Given the description of an element on the screen output the (x, y) to click on. 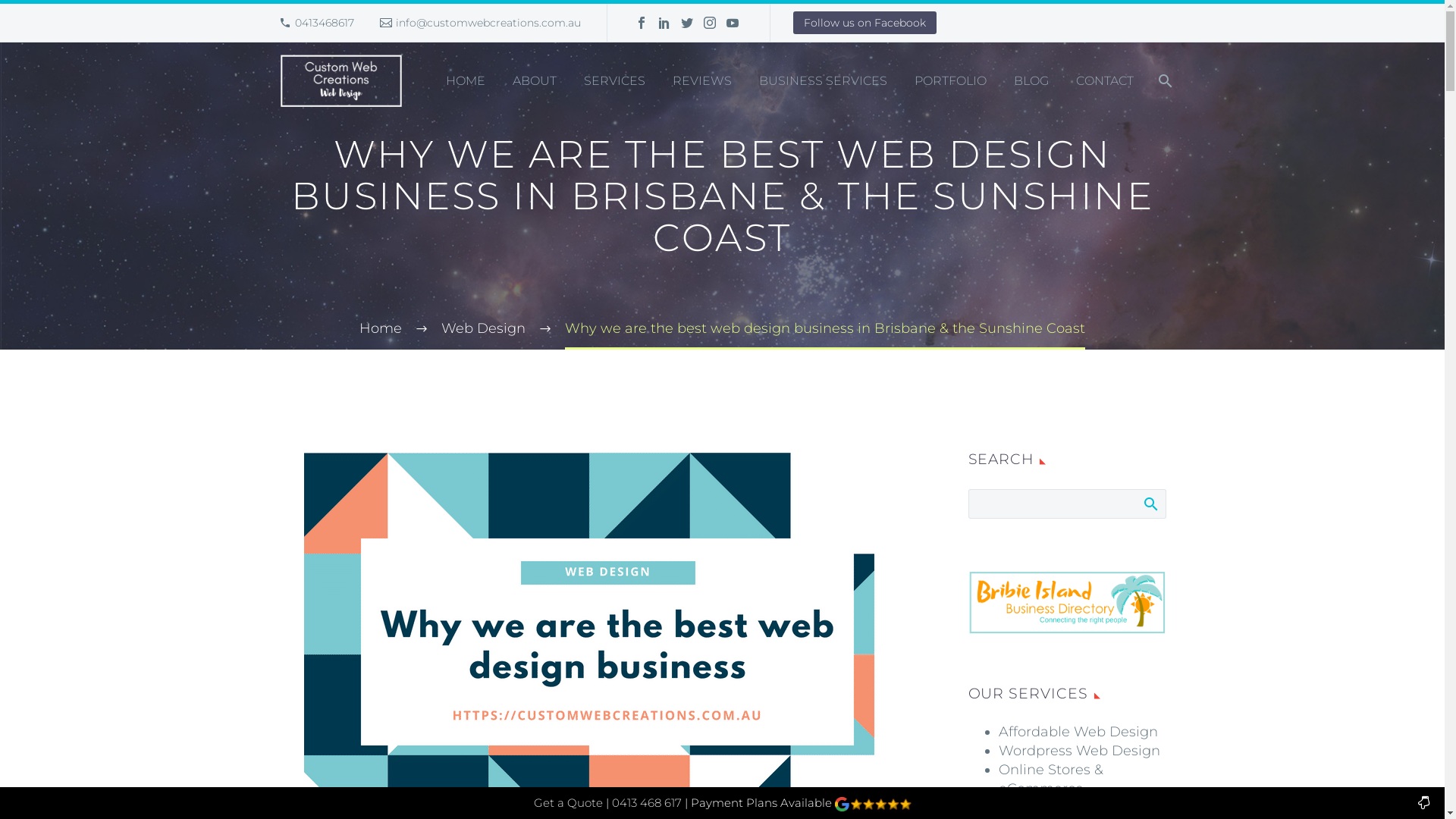
info@customwebcreations.com.au Element type: text (487, 22)
ABOUT Element type: text (533, 80)
SEARCH Element type: text (1148, 503)
Get a Quote Element type: text (567, 802)
Twitter Element type: hover (686, 22)
Follow us on Facebook Element type: text (864, 22)
BLOG Element type: text (1031, 80)
HOME Element type: text (464, 80)
LinkedIn Element type: hover (663, 22)
Online Stores & eCommerce Element type: text (1049, 779)
Home Element type: text (380, 328)
Web Design Element type: text (483, 328)
BUSINESS SERVICES Element type: text (822, 80)
REVIEWS Element type: text (702, 80)
PORTFOLIO Element type: text (949, 80)
SERVICES Element type: text (613, 80)
Facebook Element type: hover (641, 22)
0413468617 Element type: text (324, 22)
Wordpress Web Design Element type: text (1078, 750)
0413 468 617 Element type: text (645, 802)
CONTACT Element type: text (1104, 80)
Affordable Web Design Element type: text (1077, 731)
Instagram Element type: hover (709, 22)
YouTube Element type: hover (732, 22)
